Given the description of an element on the screen output the (x, y) to click on. 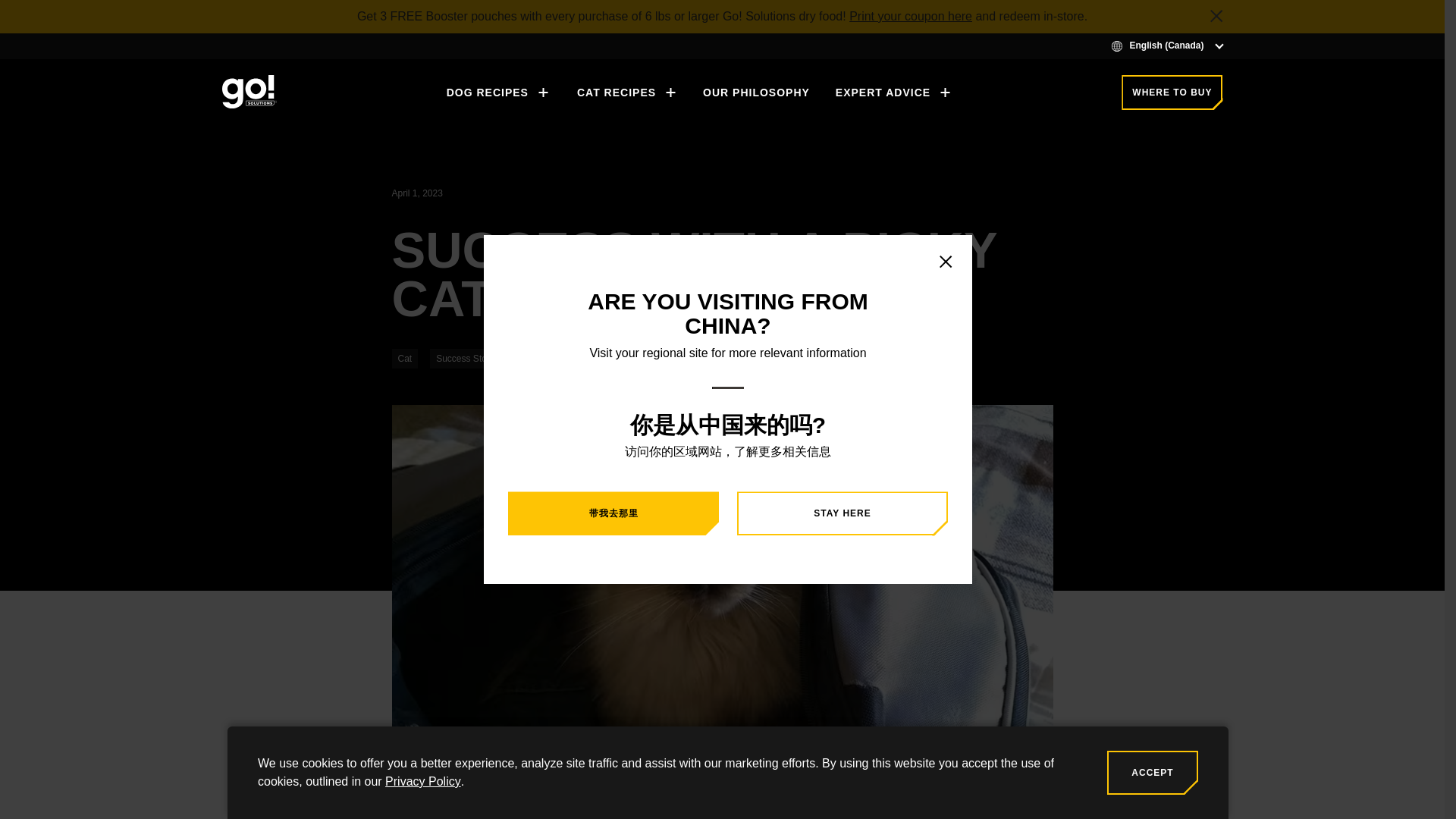
ACCEPT (1152, 772)
Return to homepage (248, 91)
DOG RECIPES (498, 92)
Return to homepage (248, 92)
CAT RECIPES (626, 92)
Privacy Policy (423, 780)
Print your coupon here (910, 15)
